Given the description of an element on the screen output the (x, y) to click on. 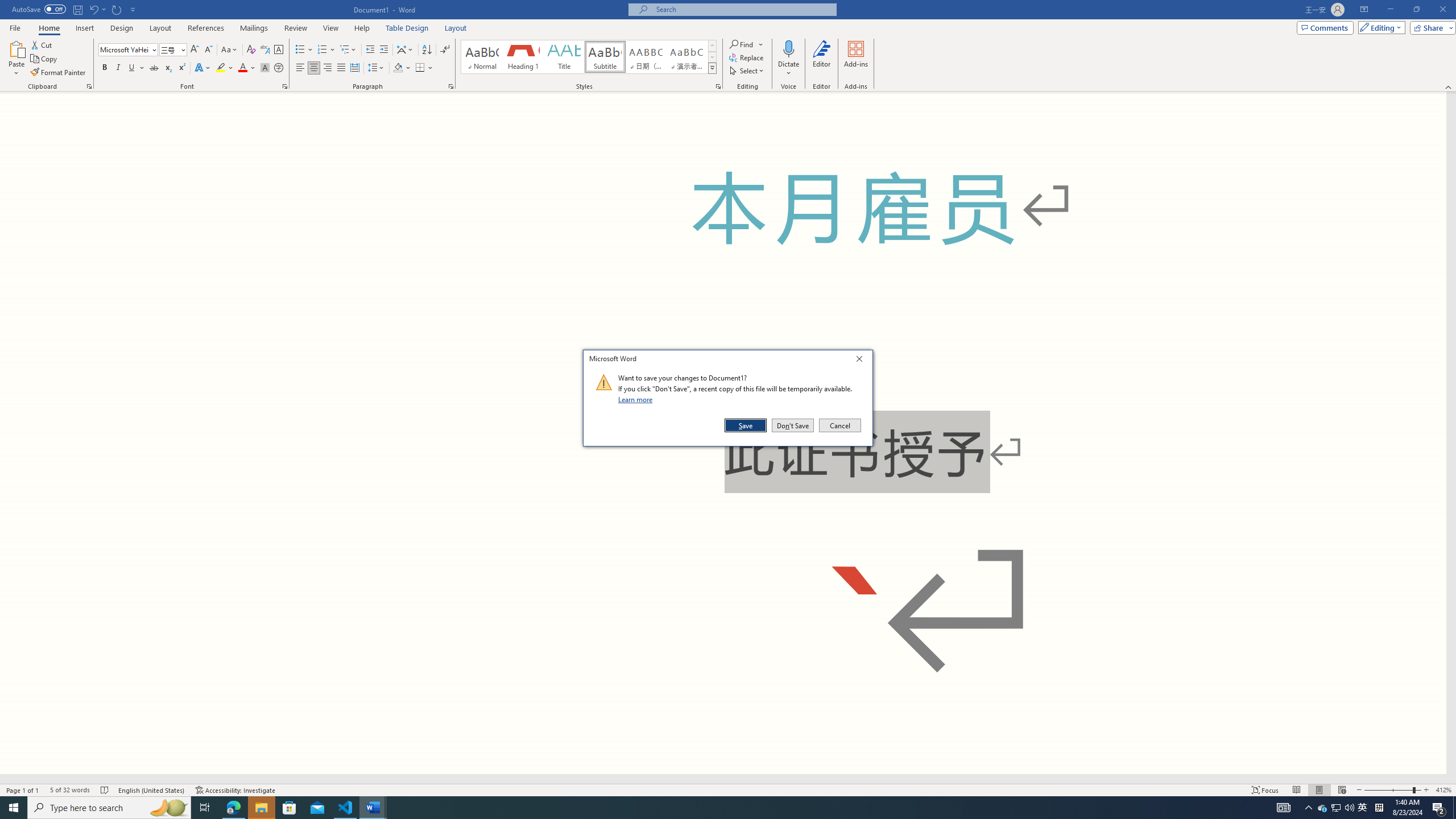
Text Effects and Typography (202, 67)
Multilevel List (347, 49)
Font Color Red (241, 67)
Text Highlight Color (224, 67)
Shading RGB(0, 0, 0) (1362, 807)
Row up (397, 67)
Restore Down (711, 45)
Numbering (1416, 9)
Spelling and Grammar Check No Errors (326, 49)
